Given the description of an element on the screen output the (x, y) to click on. 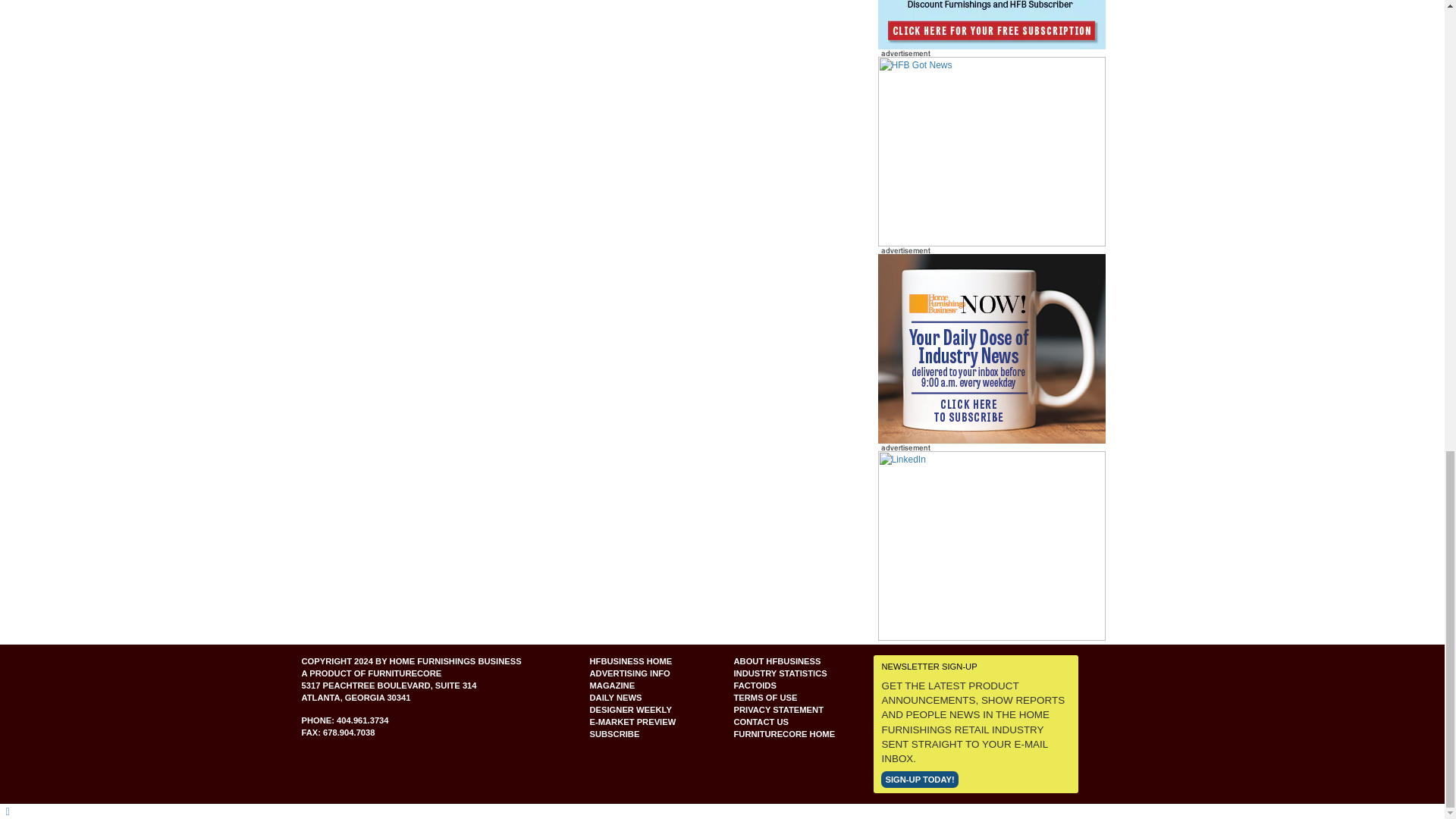
HFB Got News (991, 150)
HFB Subscribe IHeart Schell (991, 24)
HFB Subscribe IHeart (991, 151)
